Given the description of an element on the screen output the (x, y) to click on. 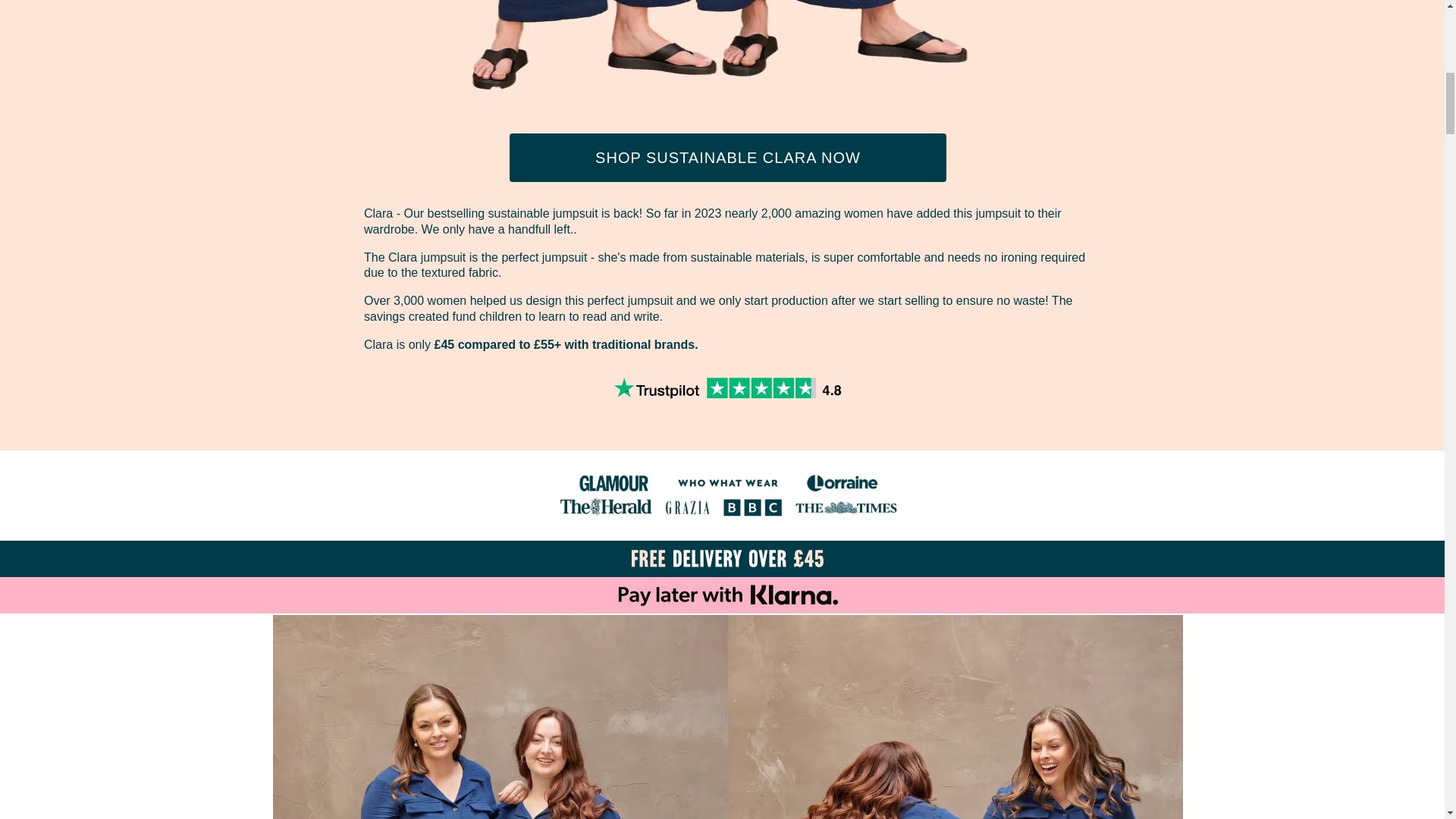
SHOP SUSTAINABLE CLARA NOW (727, 157)
